Given the description of an element on the screen output the (x, y) to click on. 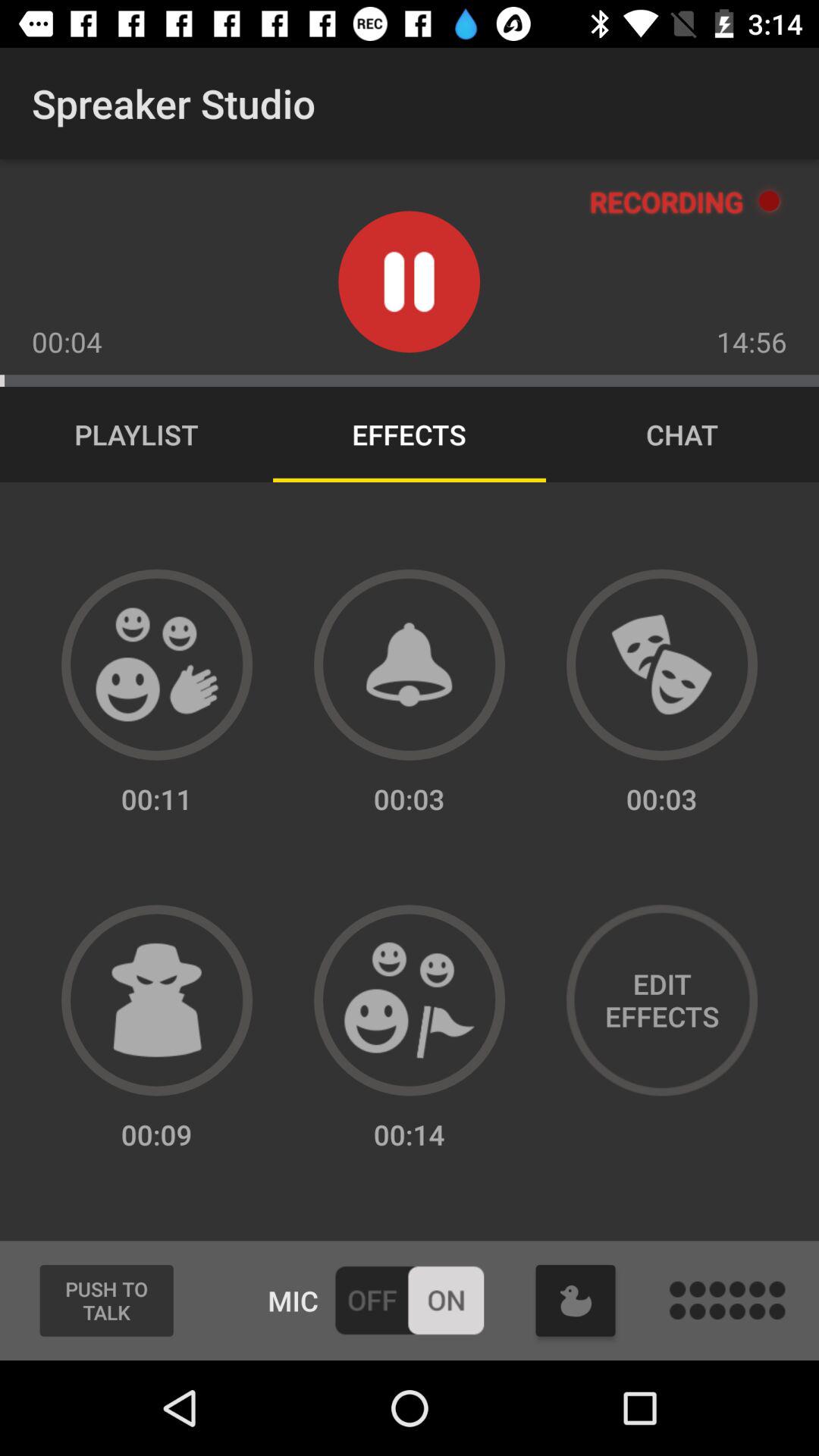
turn on edit effects icon (661, 999)
